Given the description of an element on the screen output the (x, y) to click on. 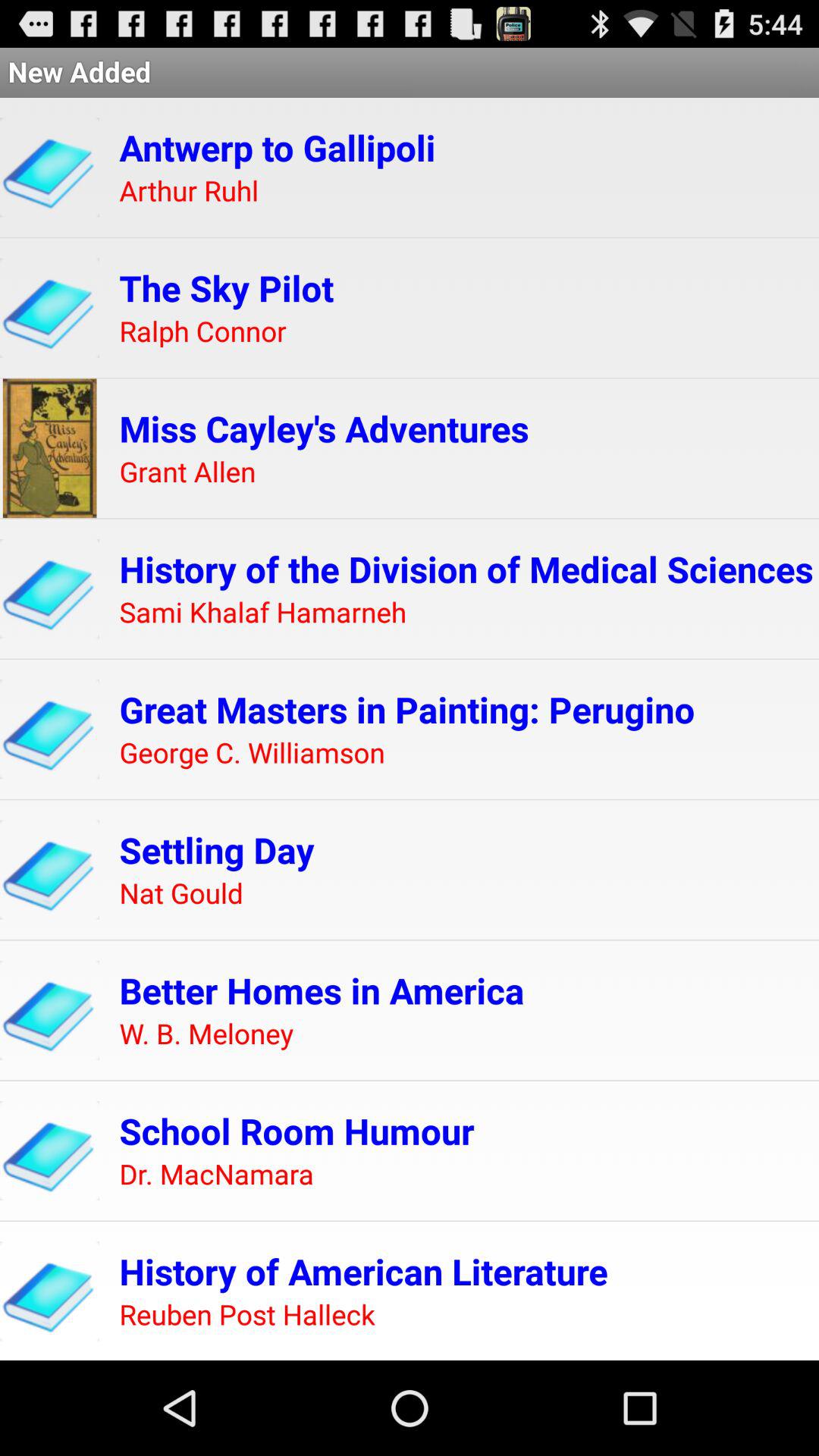
tap the the sky pilot item (226, 287)
